Given the description of an element on the screen output the (x, y) to click on. 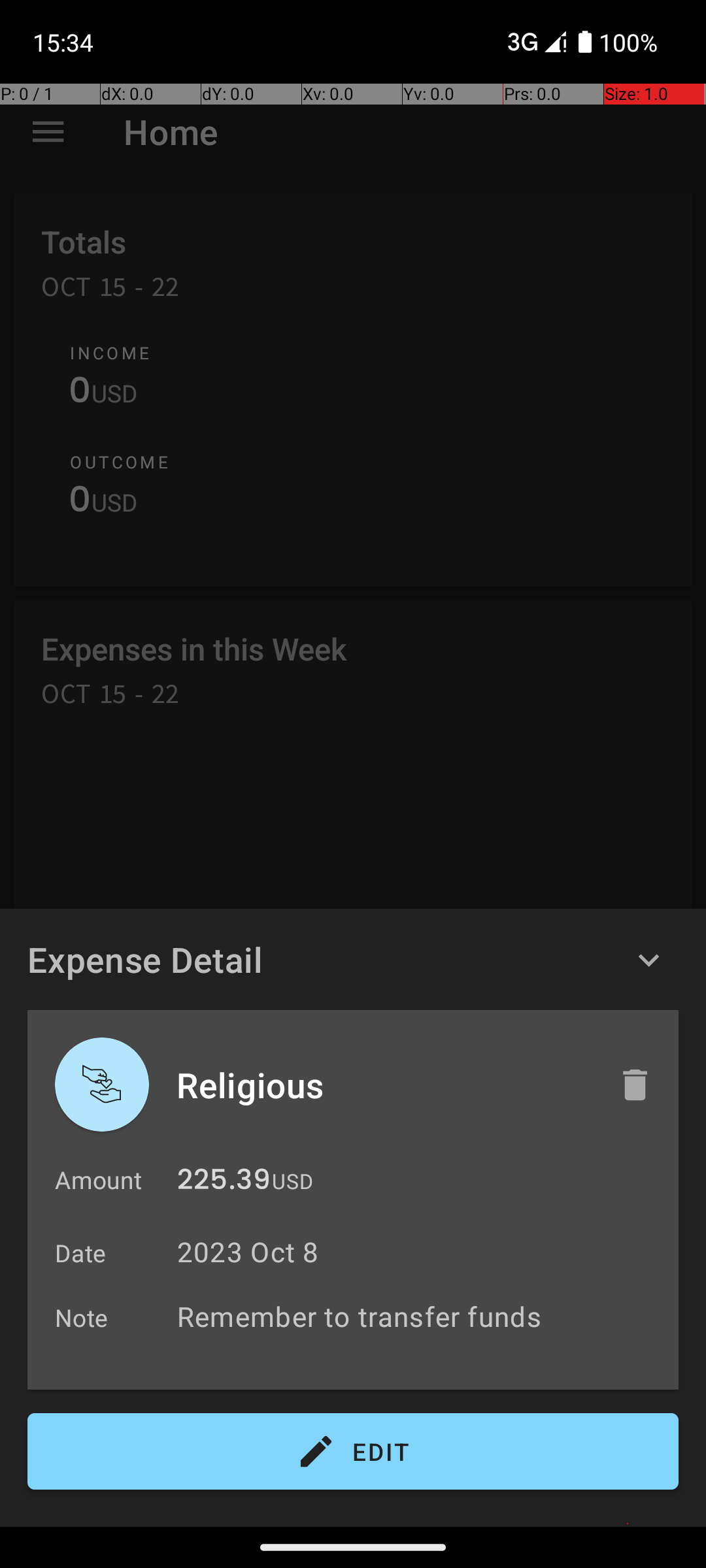
Religious Element type: android.widget.TextView (383, 1084)
225.39 Element type: android.widget.TextView (223, 1182)
2023 Oct 8 Element type: android.widget.TextView (247, 1251)
